Given the description of an element on the screen output the (x, y) to click on. 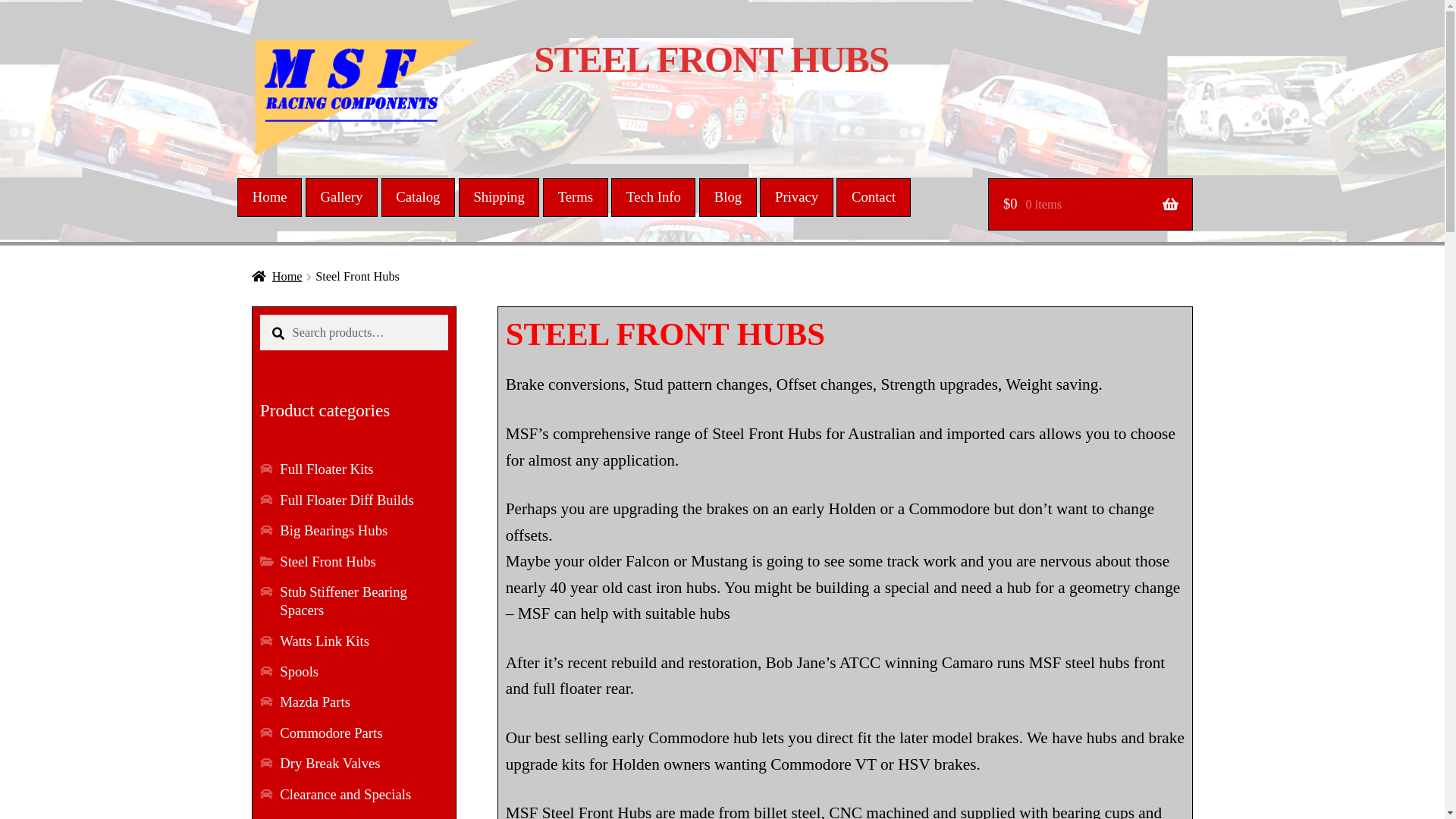
Privacy Element type: text (795, 197)
Steel Front Hubs Element type: text (327, 561)
$0 0 items Element type: text (1090, 204)
Gallery Element type: text (341, 197)
Search Element type: text (259, 313)
Catalog Element type: text (418, 197)
Terms Element type: text (575, 197)
Clearance and Specials Element type: text (345, 794)
Full Floater Diff Builds Element type: text (346, 500)
Watts Link Kits Element type: text (324, 641)
Blog Element type: text (727, 197)
Home Element type: text (269, 197)
Tech Info Element type: text (653, 197)
Big Bearings Hubs Element type: text (333, 530)
Full Floater Kits Element type: text (326, 468)
Spools Element type: text (298, 671)
Skip to navigation Element type: text (251, 36)
Mazda Parts Element type: text (314, 701)
Home Element type: text (276, 276)
Contact Element type: text (873, 197)
Shipping Element type: text (498, 197)
Commodore Parts Element type: text (330, 732)
Dry Break Valves Element type: text (329, 763)
Stub Stiffener Bearing Spacers Element type: text (343, 600)
